Given the description of an element on the screen output the (x, y) to click on. 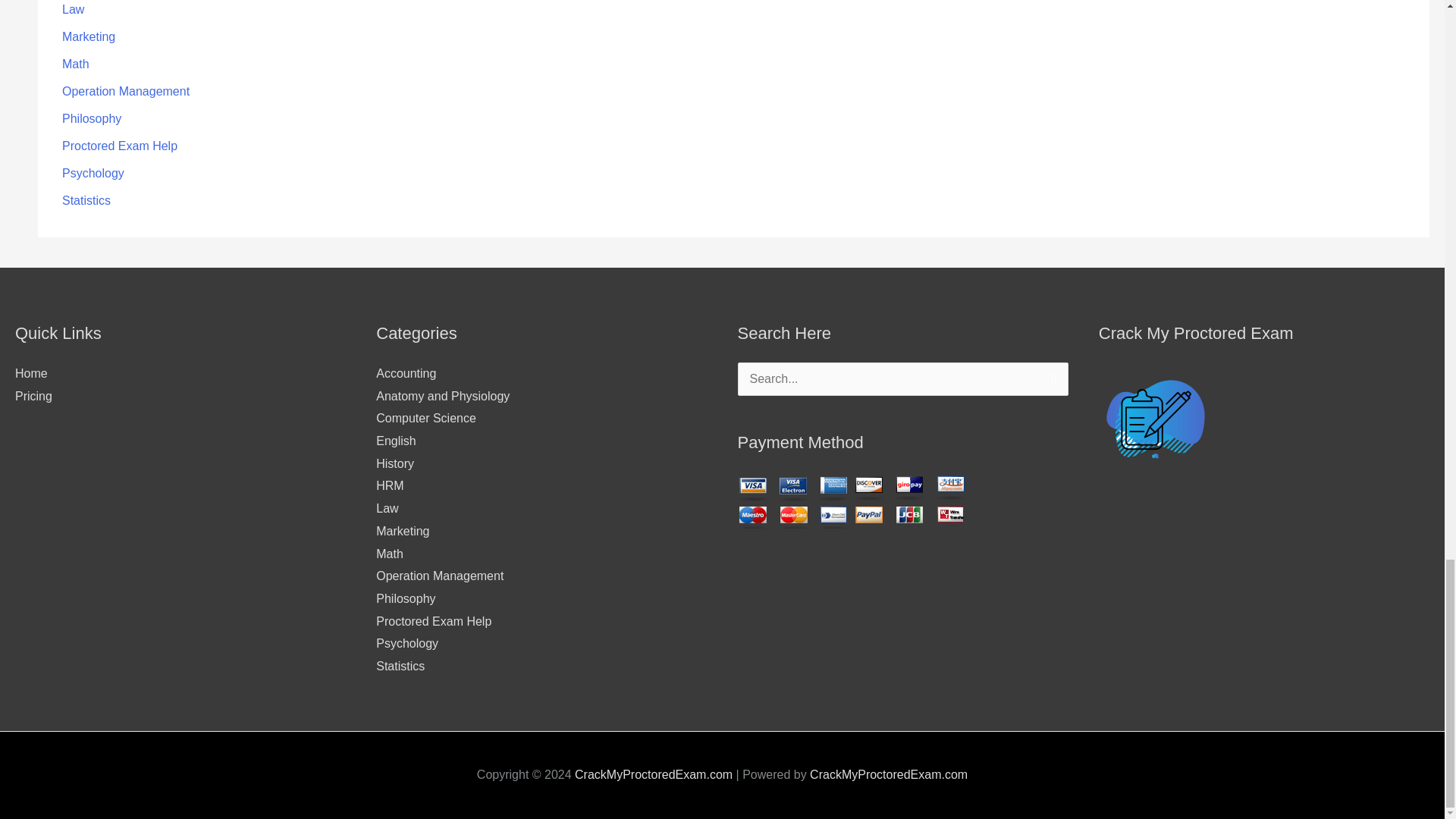
Pricing (33, 395)
Proctored Exam Help (119, 145)
Home (31, 373)
Philosophy (91, 118)
Law (73, 9)
Operation Management (125, 91)
Math (75, 63)
Marketing (88, 36)
Statistics (86, 200)
Psychology (92, 173)
